Given the description of an element on the screen output the (x, y) to click on. 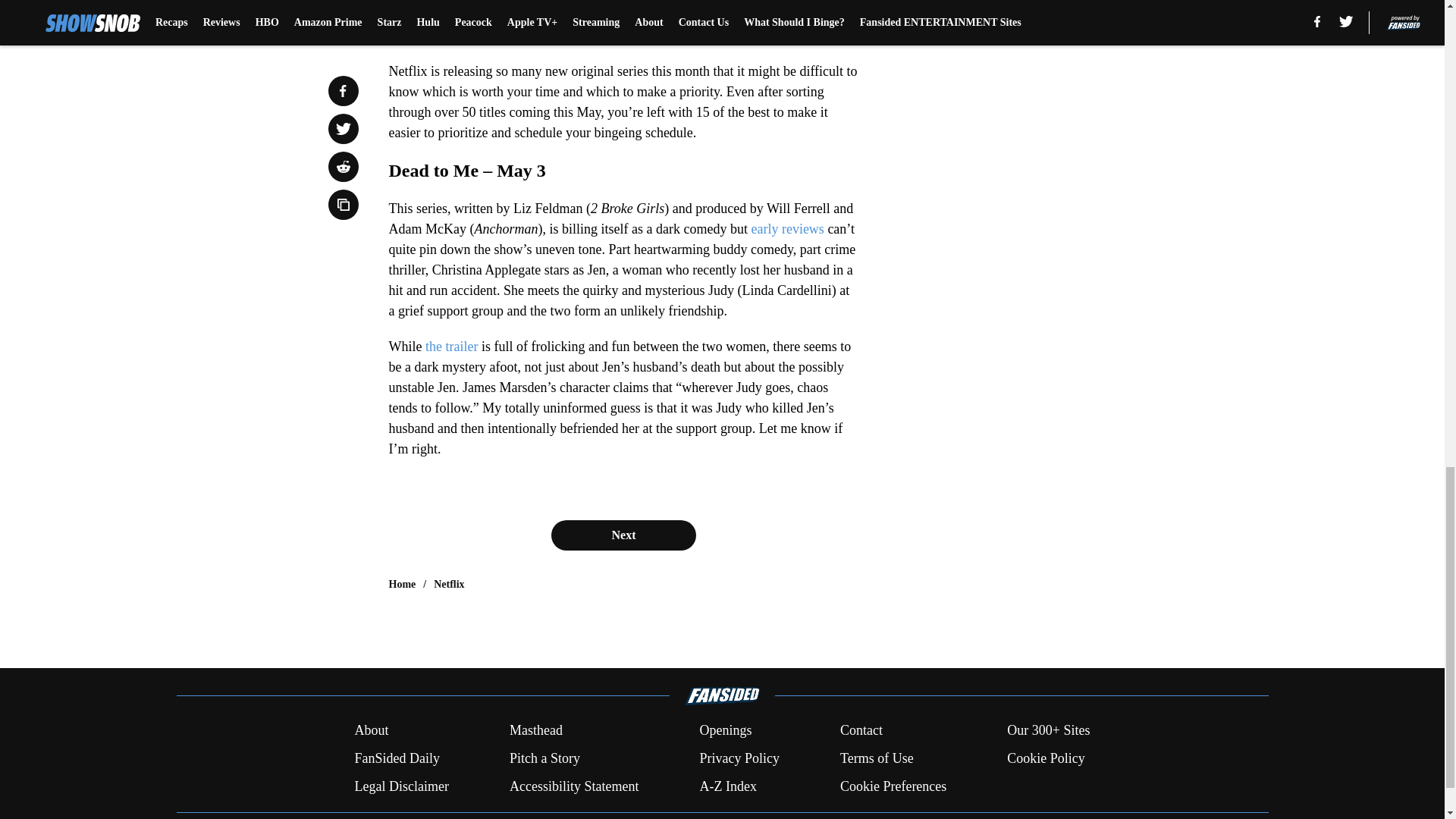
early reviews (787, 228)
Contact (861, 730)
the trailer (449, 346)
Home (401, 584)
Pitch a Story (544, 758)
FanSided Daily (396, 758)
About (370, 730)
Openings (724, 730)
Next (622, 535)
Netflix (448, 584)
Masthead (535, 730)
